Given the description of an element on the screen output the (x, y) to click on. 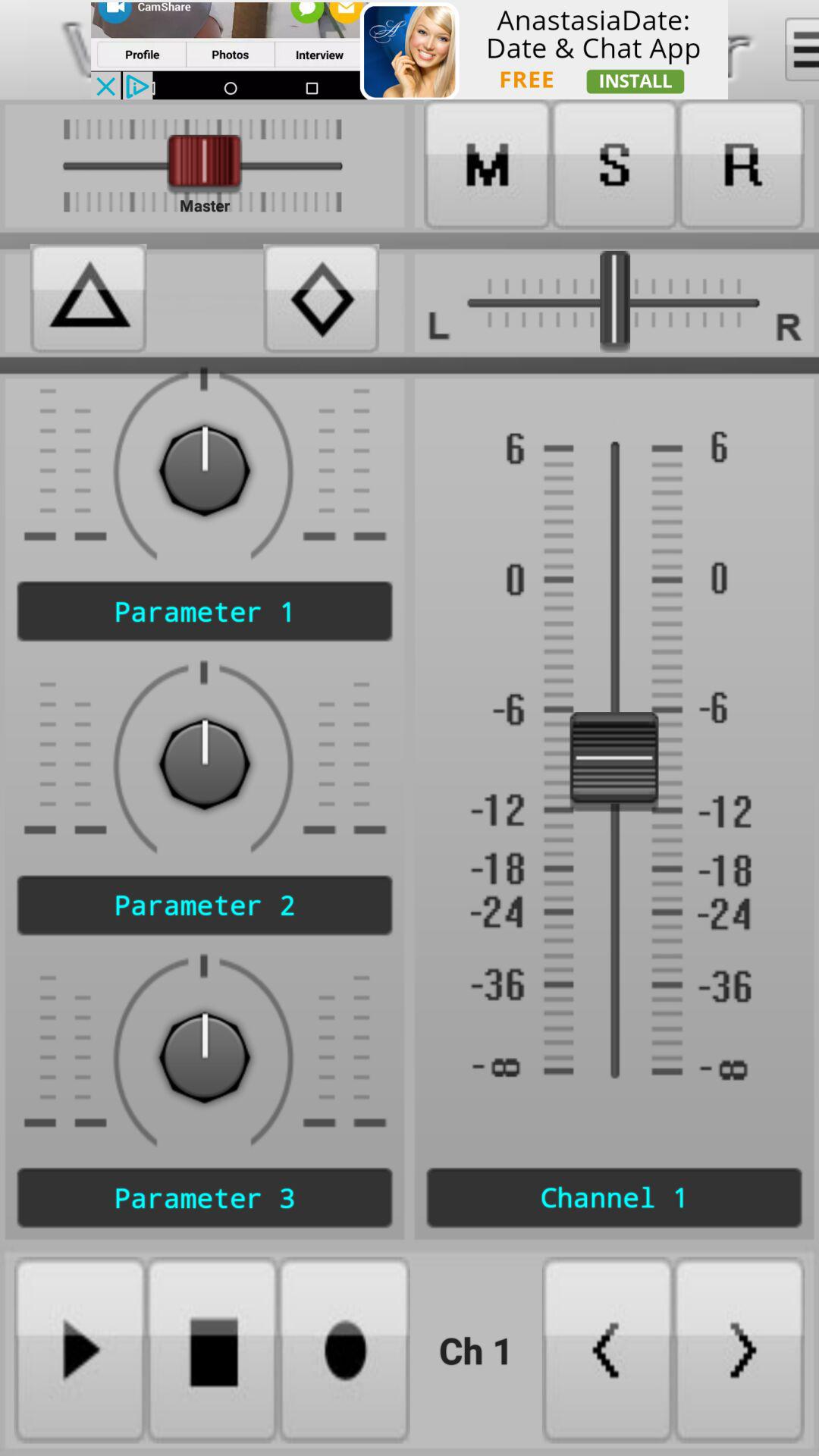
open advertisements (409, 49)
